Given the description of an element on the screen output the (x, y) to click on. 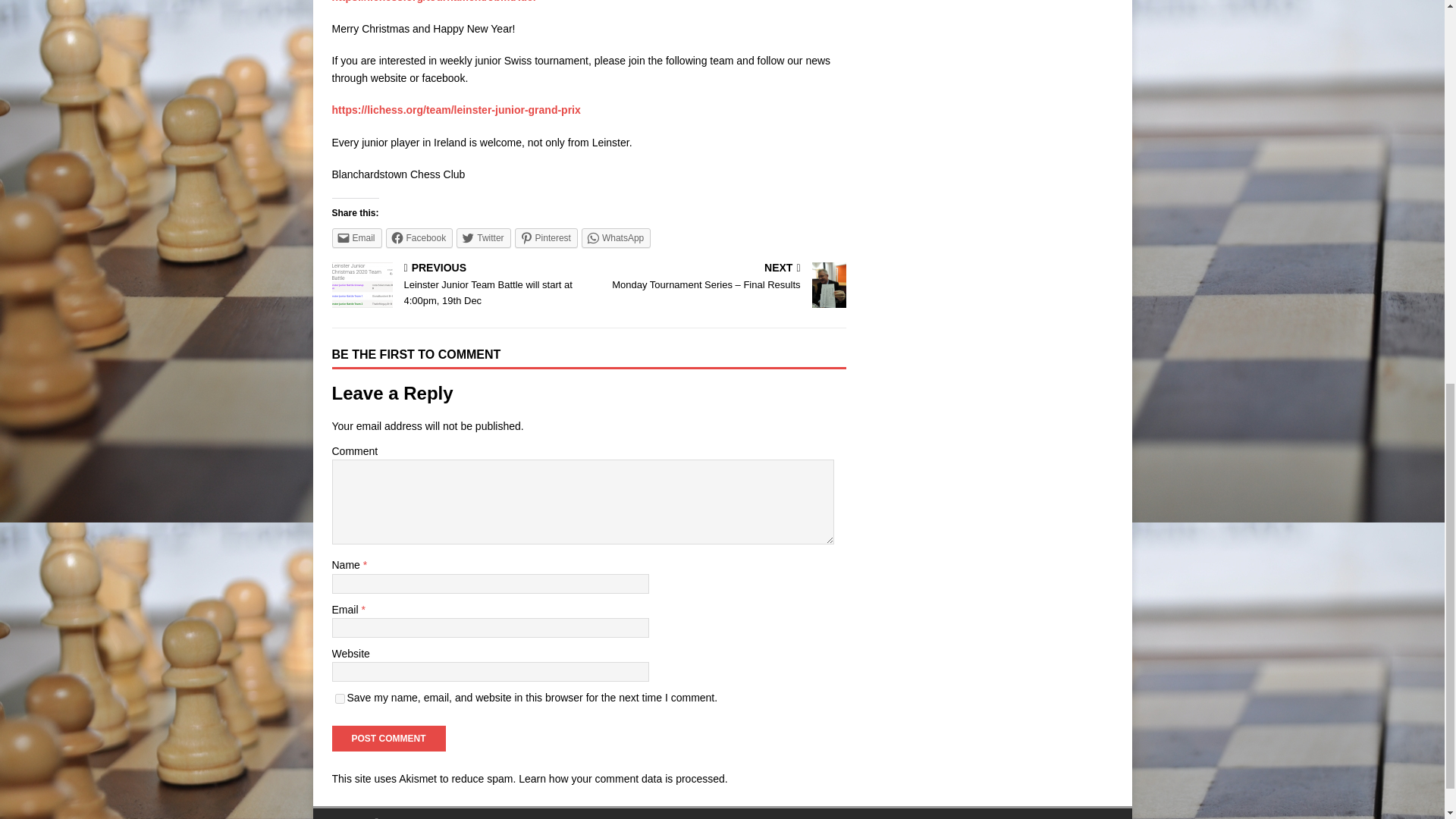
Click to share on Pinterest (546, 238)
Click to share on Twitter (484, 238)
Click to share on Facebook (418, 238)
Click to email a link to a friend (356, 238)
Click to share on WhatsApp (615, 238)
yes (339, 698)
Post Comment (388, 738)
